Given the description of an element on the screen output the (x, y) to click on. 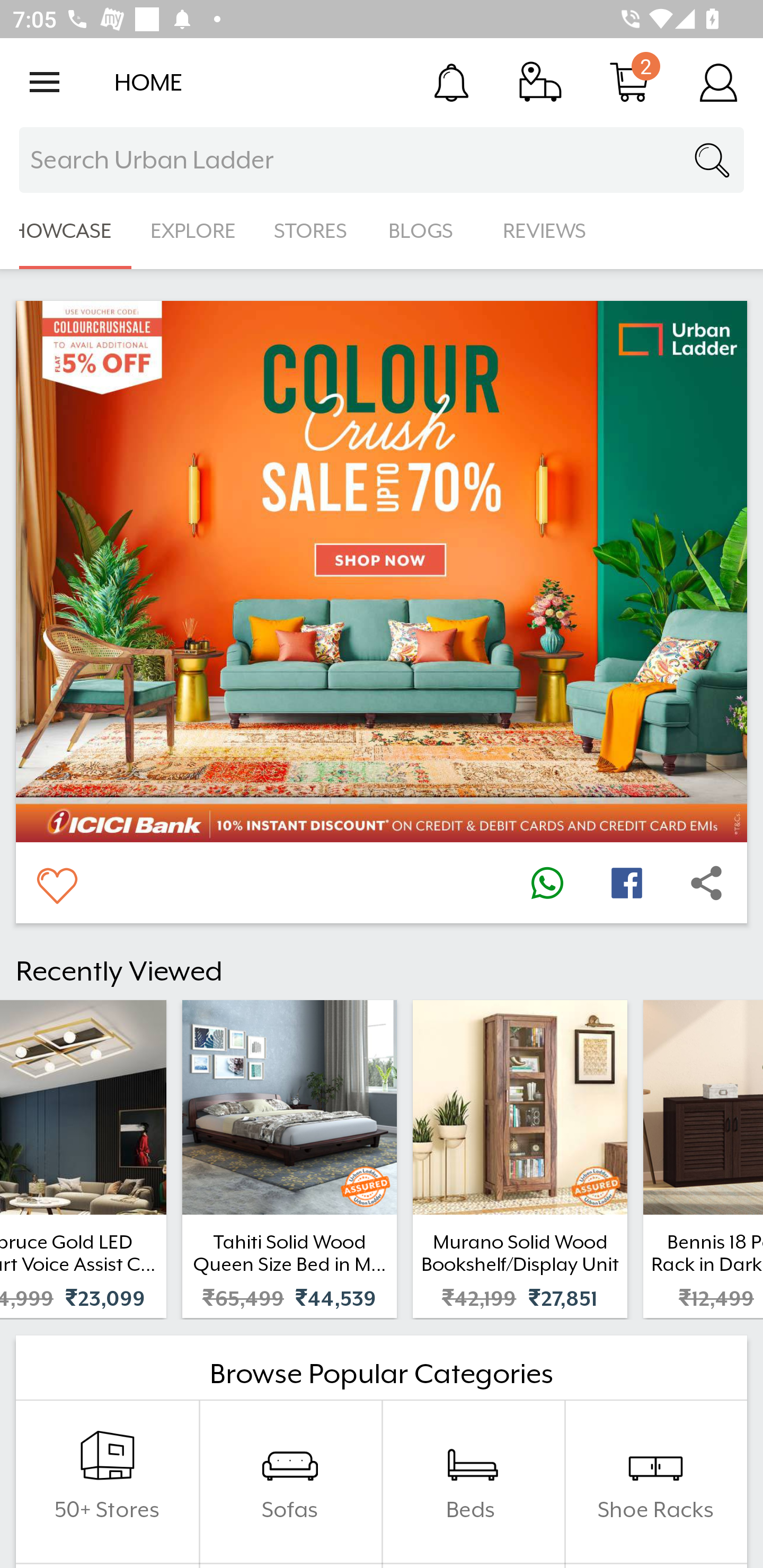
Open navigation drawer (44, 82)
Notification (450, 81)
Track Order (540, 81)
Cart (629, 81)
Account Details (718, 81)
Search Urban Ladder  (381, 159)
SHOWCASE (65, 230)
EXPLORE (192, 230)
STORES (311, 230)
BLOGS (426, 230)
REVIEWS (544, 230)
 (55, 882)
 (547, 882)
 (626, 882)
 (706, 882)
50+ Stores (106, 1481)
Sofas (289, 1481)
Beds  (473, 1481)
Shoe Racks (655, 1481)
